Given the description of an element on the screen output the (x, y) to click on. 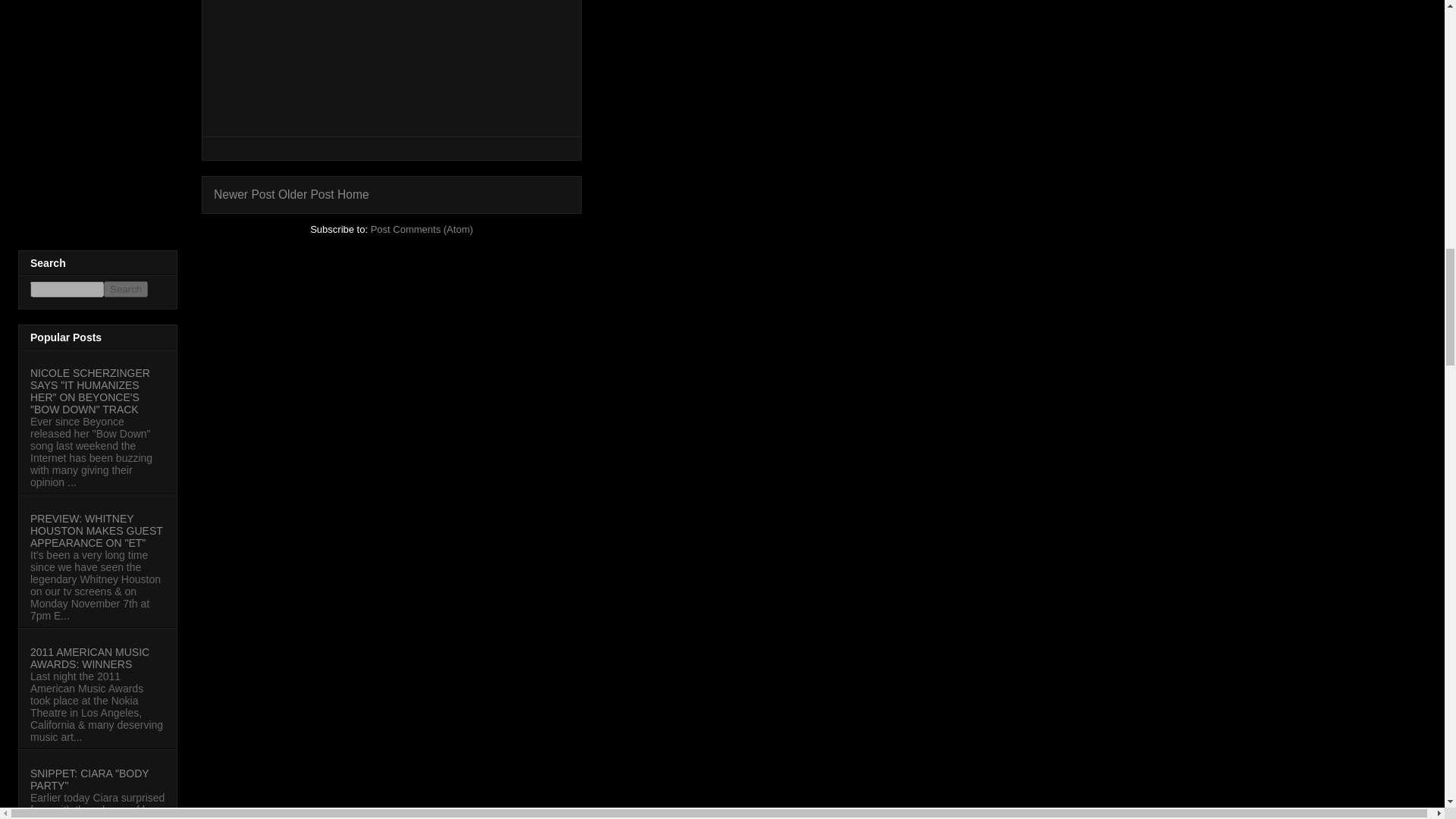
search (66, 289)
search (125, 289)
Search (125, 289)
Older Post (306, 194)
2011 AMERICAN MUSIC AWARDS: WINNERS (89, 658)
Older Post (306, 194)
SNIPPET: CIARA "BODY PARTY" (89, 779)
Search (125, 289)
Newer Post (244, 194)
Search (125, 289)
PREVIEW: WHITNEY HOUSTON MAKES GUEST APPEARANCE ON "ET" (96, 530)
Home (353, 194)
Newer Post (244, 194)
